Given the description of an element on the screen output the (x, y) to click on. 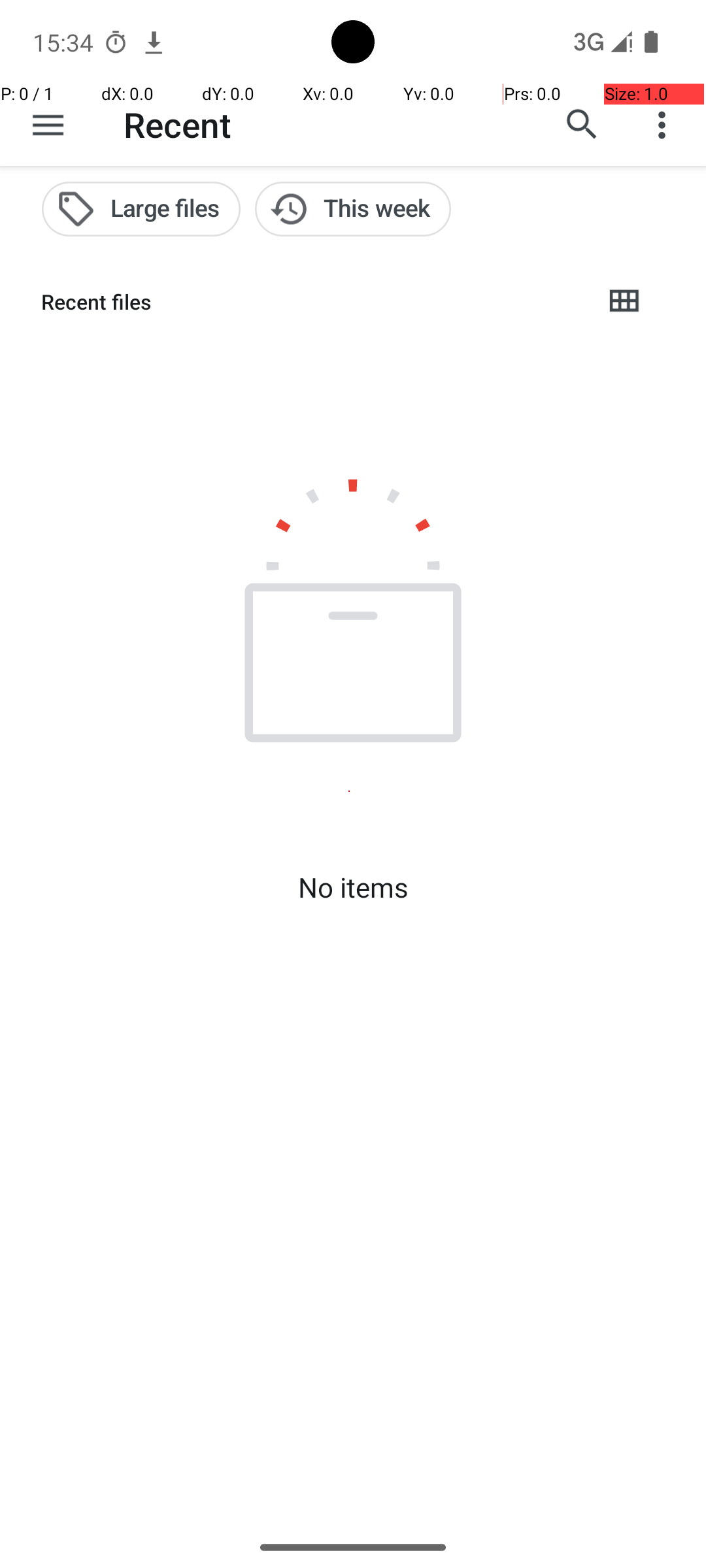
Chrome notification: www.espn.com Element type: android.widget.ImageView (153, 41)
